Given the description of an element on the screen output the (x, y) to click on. 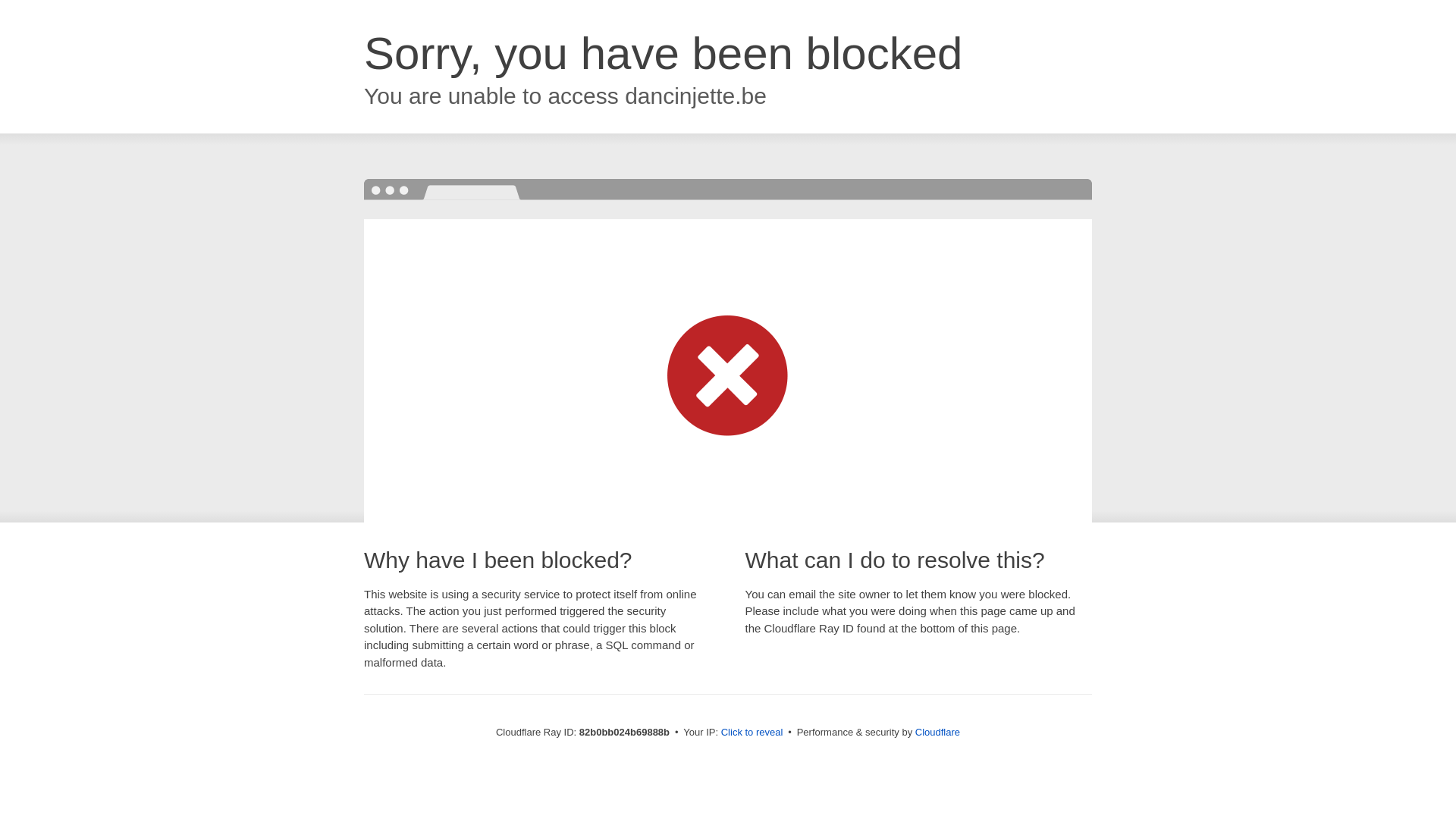
Click to reveal Element type: text (752, 732)
Cloudflare Element type: text (937, 731)
